Given the description of an element on the screen output the (x, y) to click on. 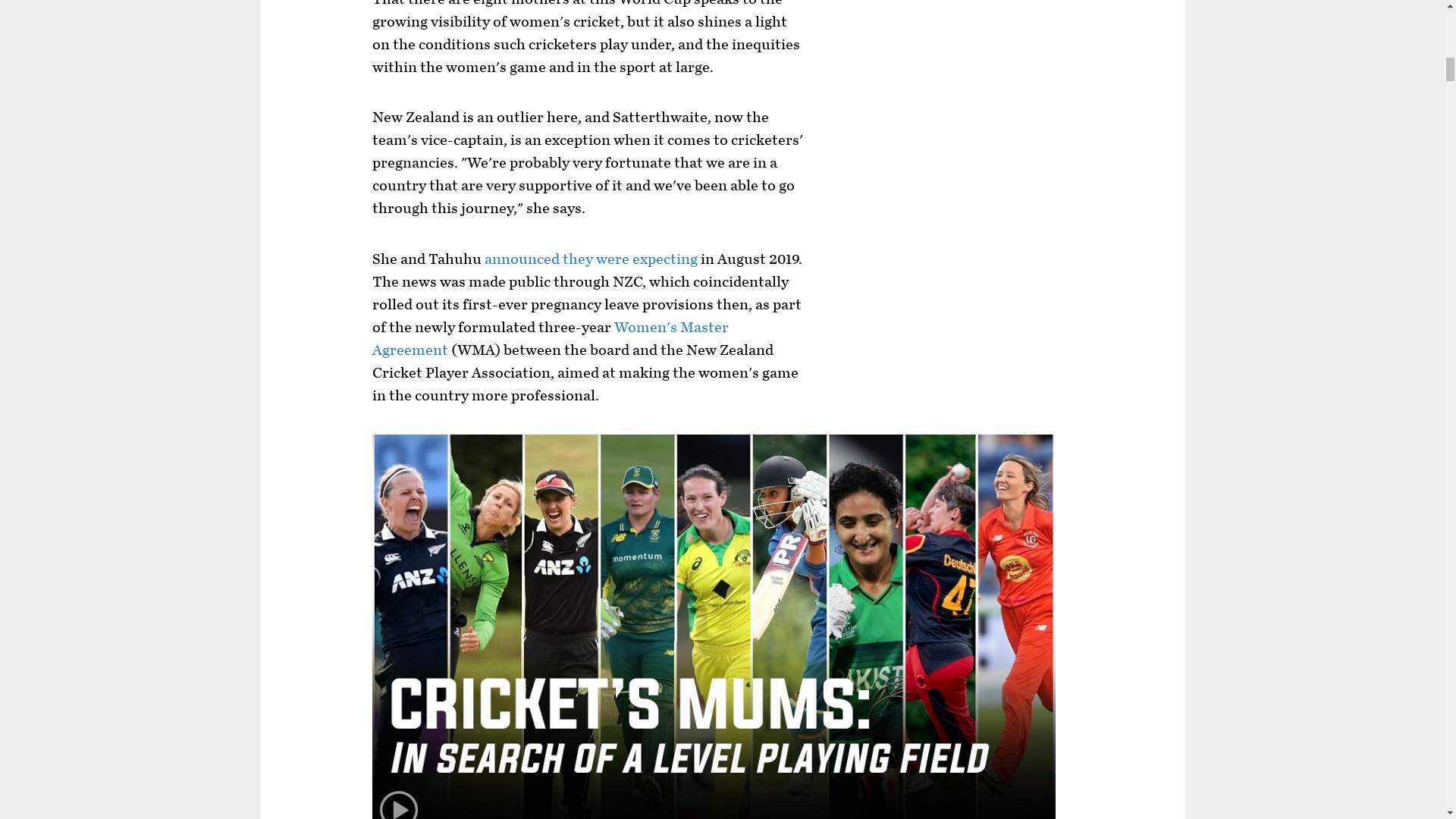
announced they were expecting (590, 258)
Women's Master Agreement (550, 338)
